Given the description of an element on the screen output the (x, y) to click on. 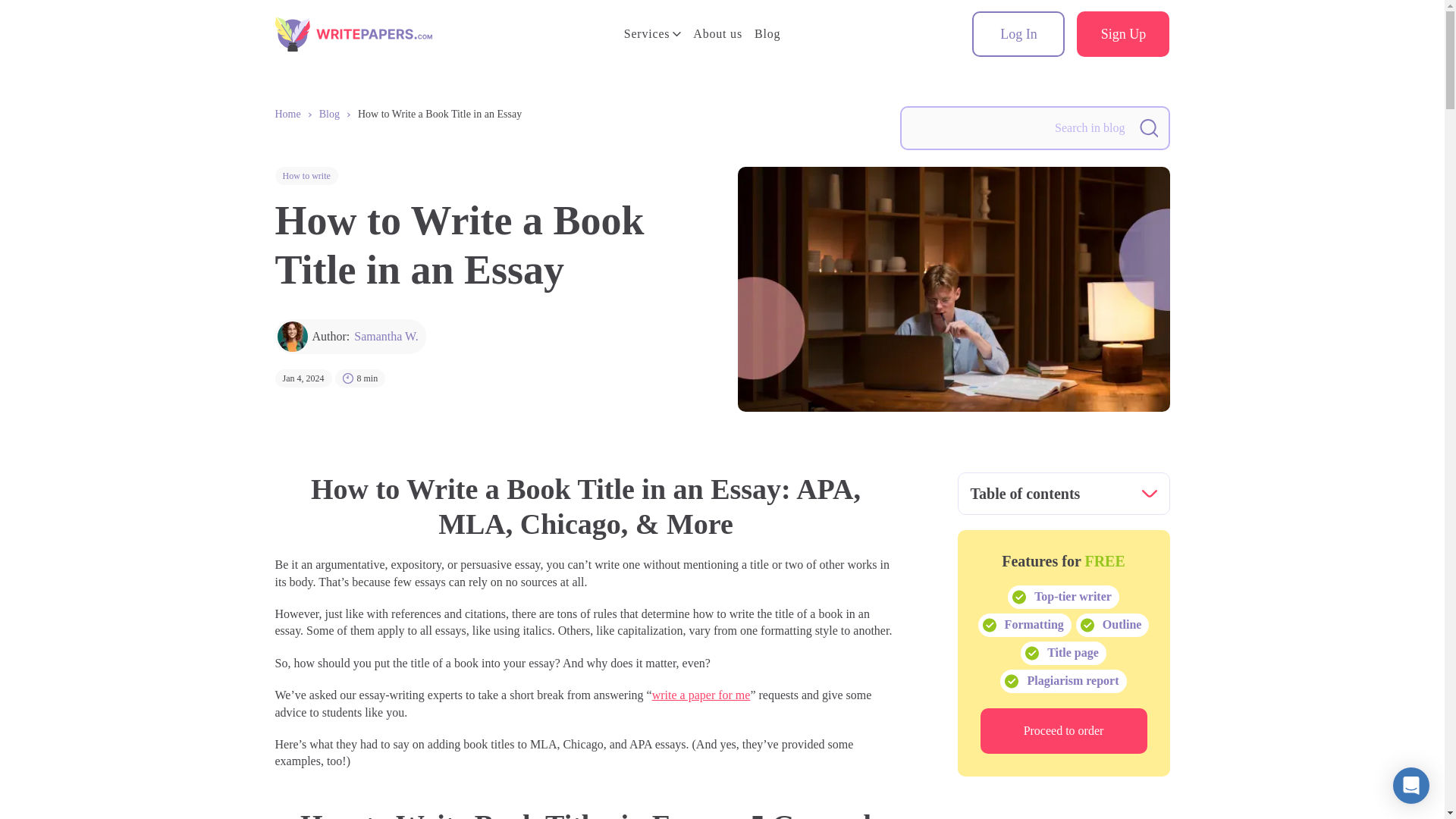
About us (717, 34)
Home (287, 114)
Proceed to order (1063, 730)
write a paper for me (701, 694)
Sign Up (1123, 33)
Blog (328, 114)
Log In (1018, 33)
